Given the description of an element on the screen output the (x, y) to click on. 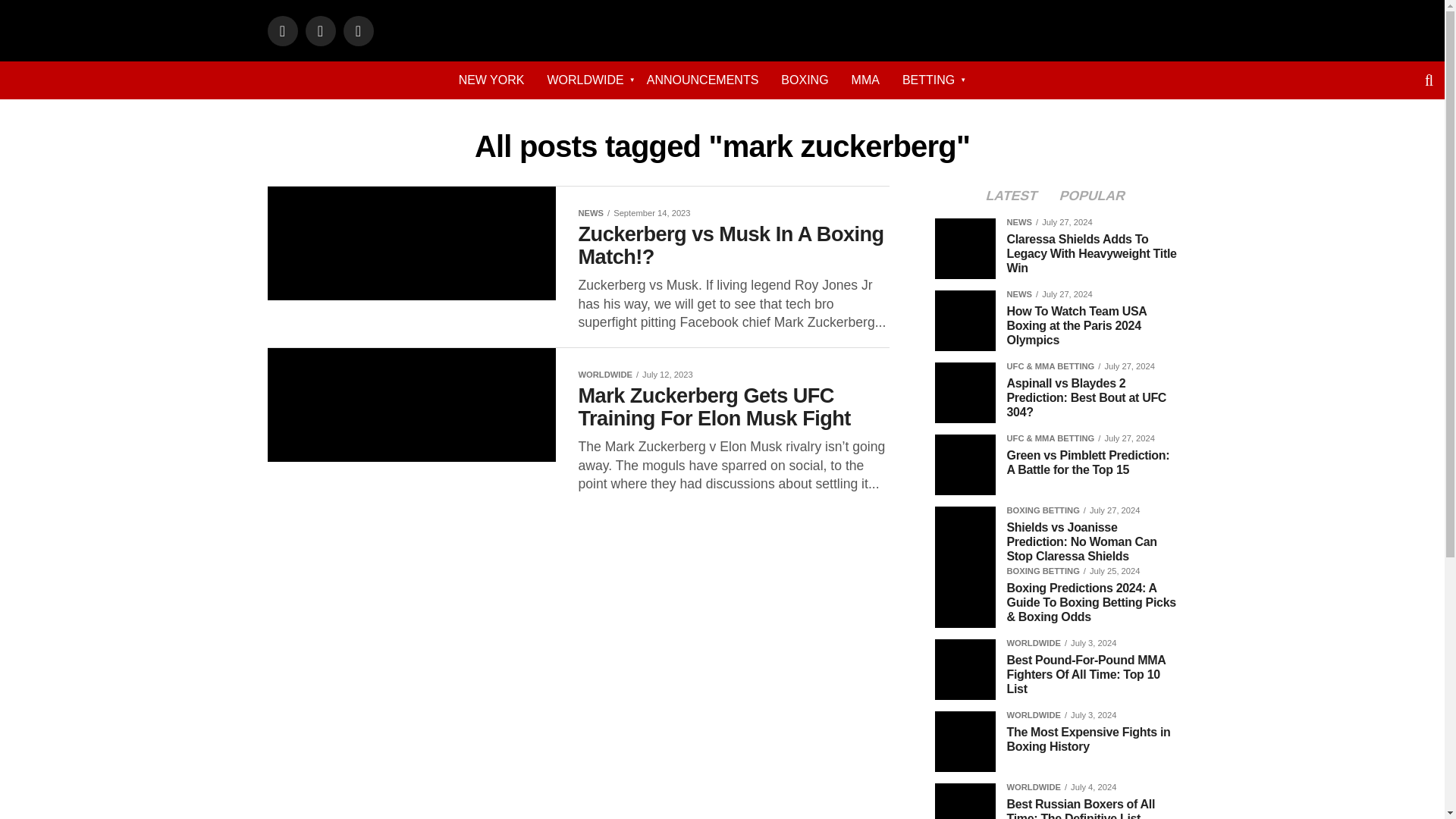
POPULAR (1092, 196)
ANNOUNCEMENTS (702, 80)
LATEST (1011, 196)
MMA (865, 80)
NEW YORK (490, 80)
BETTING (928, 80)
WORLDWIDE (584, 80)
BOXING (805, 80)
